Given the description of an element on the screen output the (x, y) to click on. 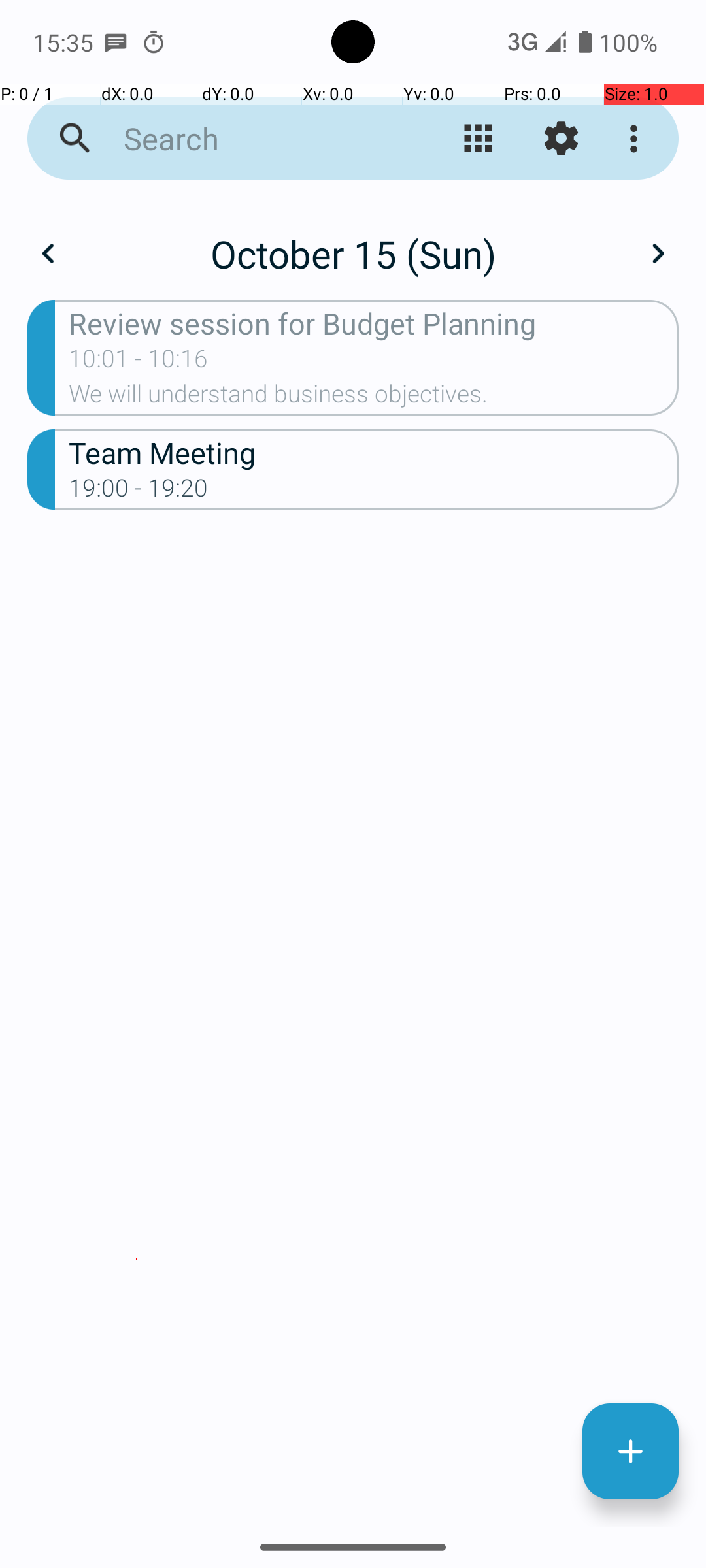
Change view Element type: android.widget.Button (477, 138)
New Event Element type: android.widget.ImageButton (630, 1451)
October 15 (Sun) Element type: android.widget.TextView (352, 253)
Review session for Budget Planning Element type: android.widget.TextView (373, 321)
10:01 - 10:16 Element type: android.widget.TextView (137, 362)
We will understand business objectives. Element type: android.widget.TextView (373, 397)
Team Meeting Element type: android.widget.TextView (373, 451)
19:00 - 19:20 Element type: android.widget.TextView (137, 491)
